Given the description of an element on the screen output the (x, y) to click on. 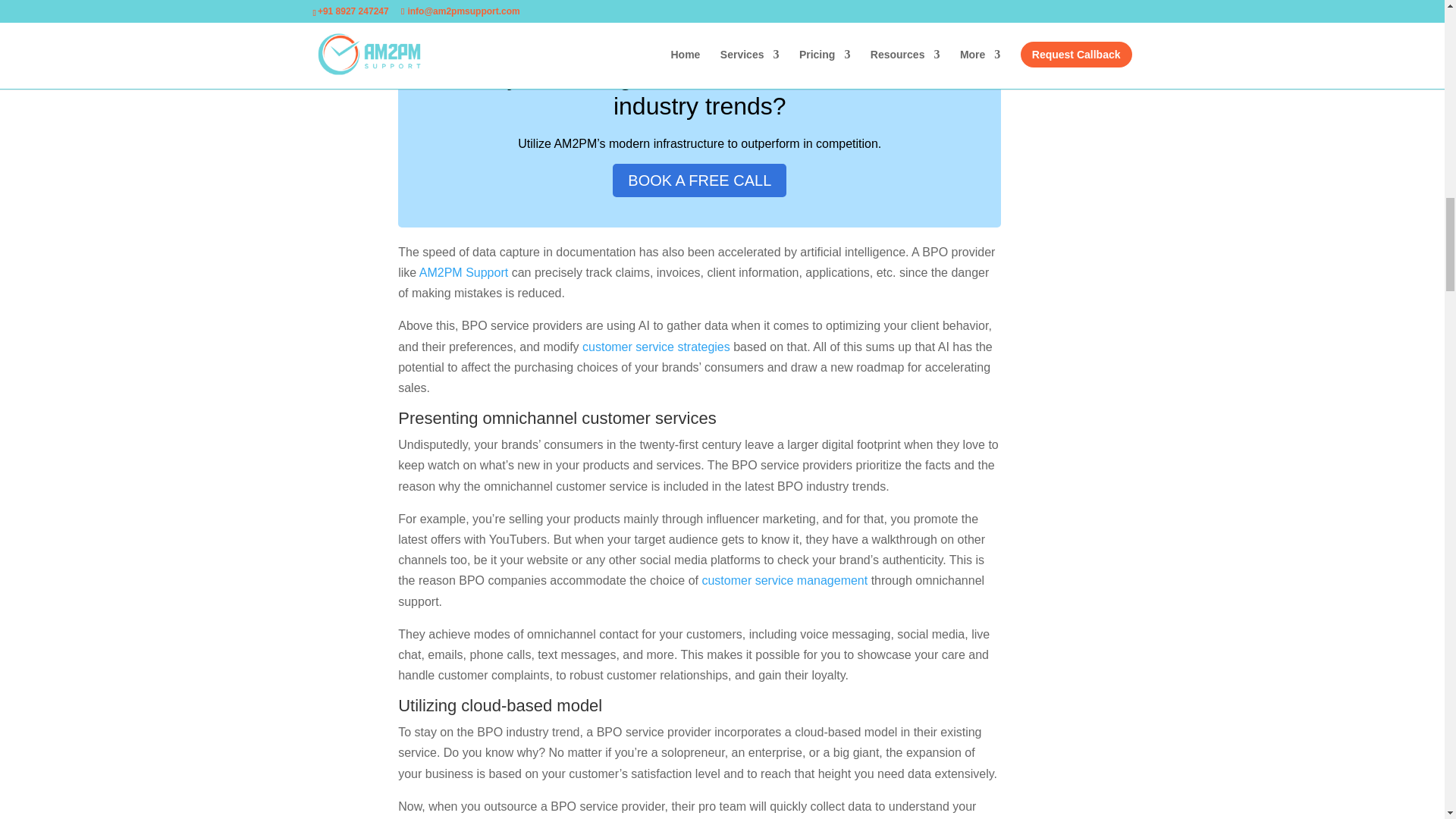
BOOK A FREE CALL (699, 180)
customer service strategies (656, 346)
customer service management (784, 580)
AM2PM Support (463, 272)
